Given the description of an element on the screen output the (x, y) to click on. 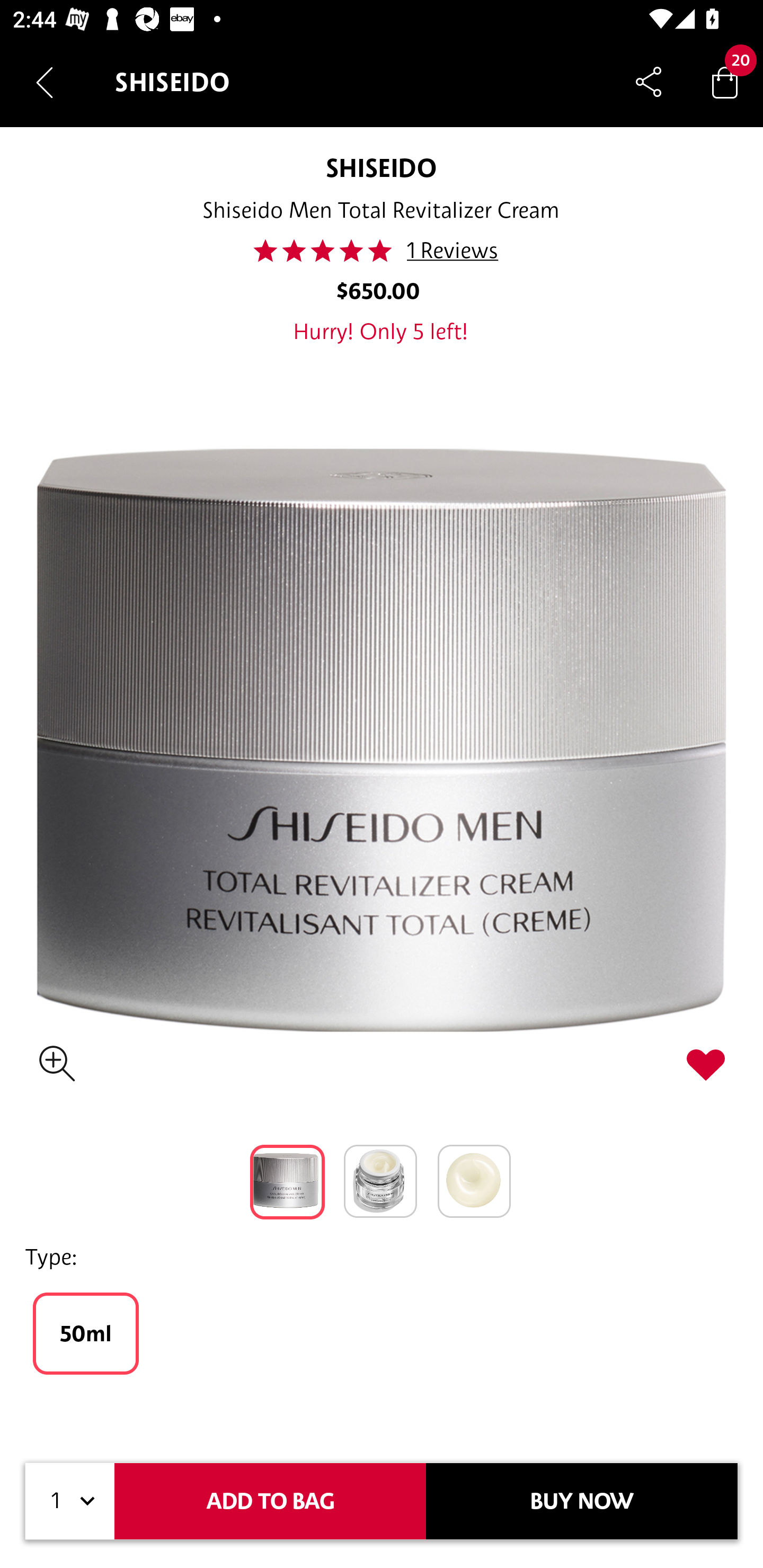
Navigate up (44, 82)
Share (648, 81)
Bag (724, 81)
SHISEIDO (380, 167)
50.0 1 Reviews (381, 250)
50ml (85, 1333)
1 (69, 1500)
ADD TO BAG (269, 1500)
BUY NOW (581, 1500)
